Given the description of an element on the screen output the (x, y) to click on. 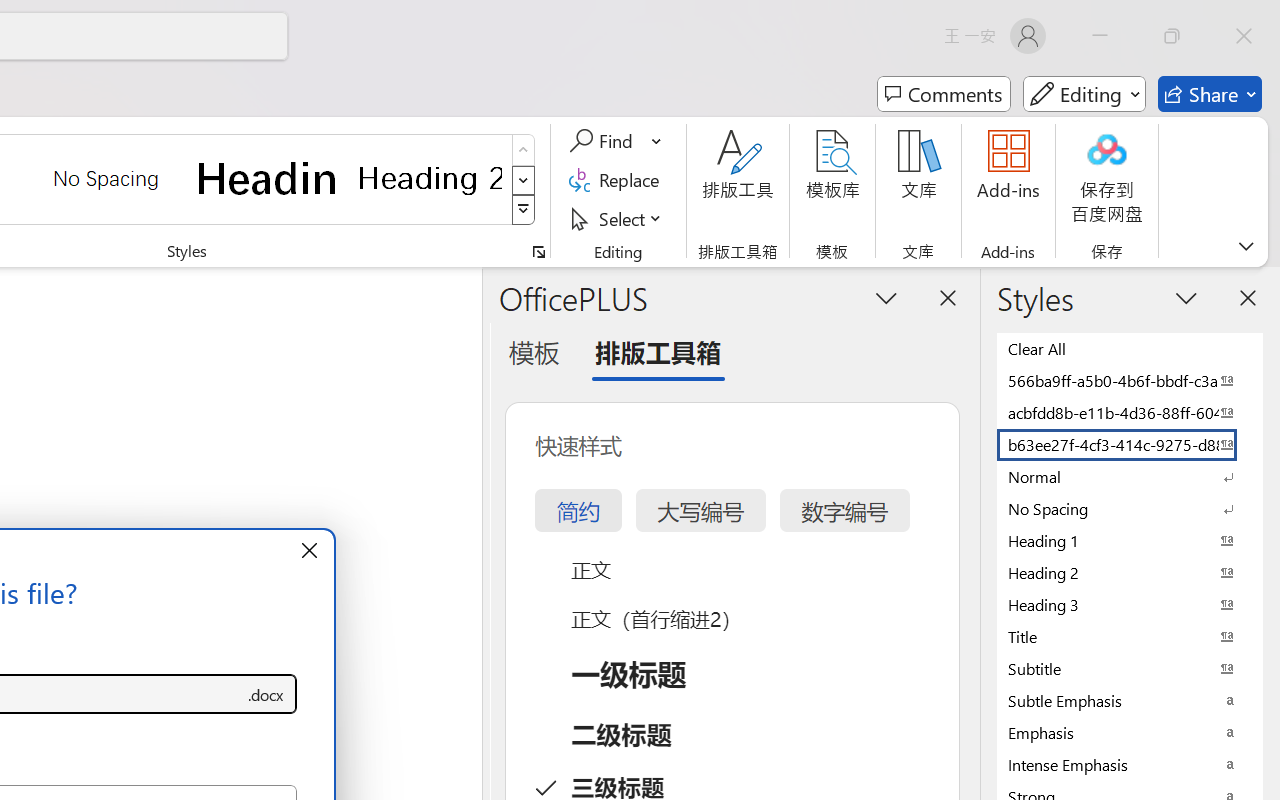
Heading 1 (267, 178)
Styles... (538, 252)
Emphasis (1130, 732)
Row up (523, 150)
Clear All (1130, 348)
Heading 2 (429, 178)
Replace... (617, 179)
